Given the description of an element on the screen output the (x, y) to click on. 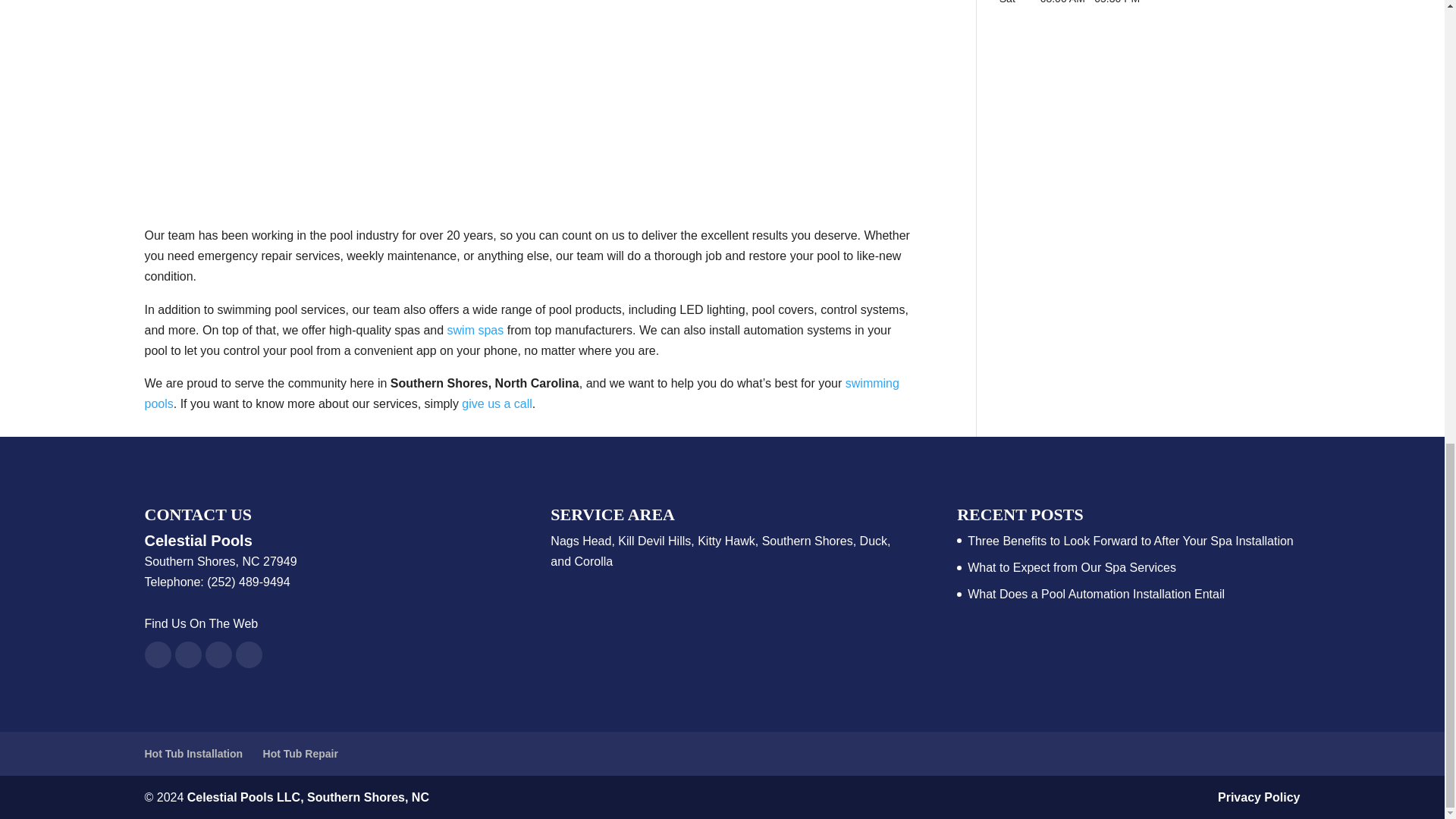
Facebook (157, 654)
swimming pools (521, 393)
What to Expect from Our Spa Services (1072, 567)
give us a call (496, 403)
Find Us On The Web (200, 623)
Instagram (187, 654)
swim spas (474, 329)
Jackpage Lite (248, 654)
Google My Business (218, 654)
